Given the description of an element on the screen output the (x, y) to click on. 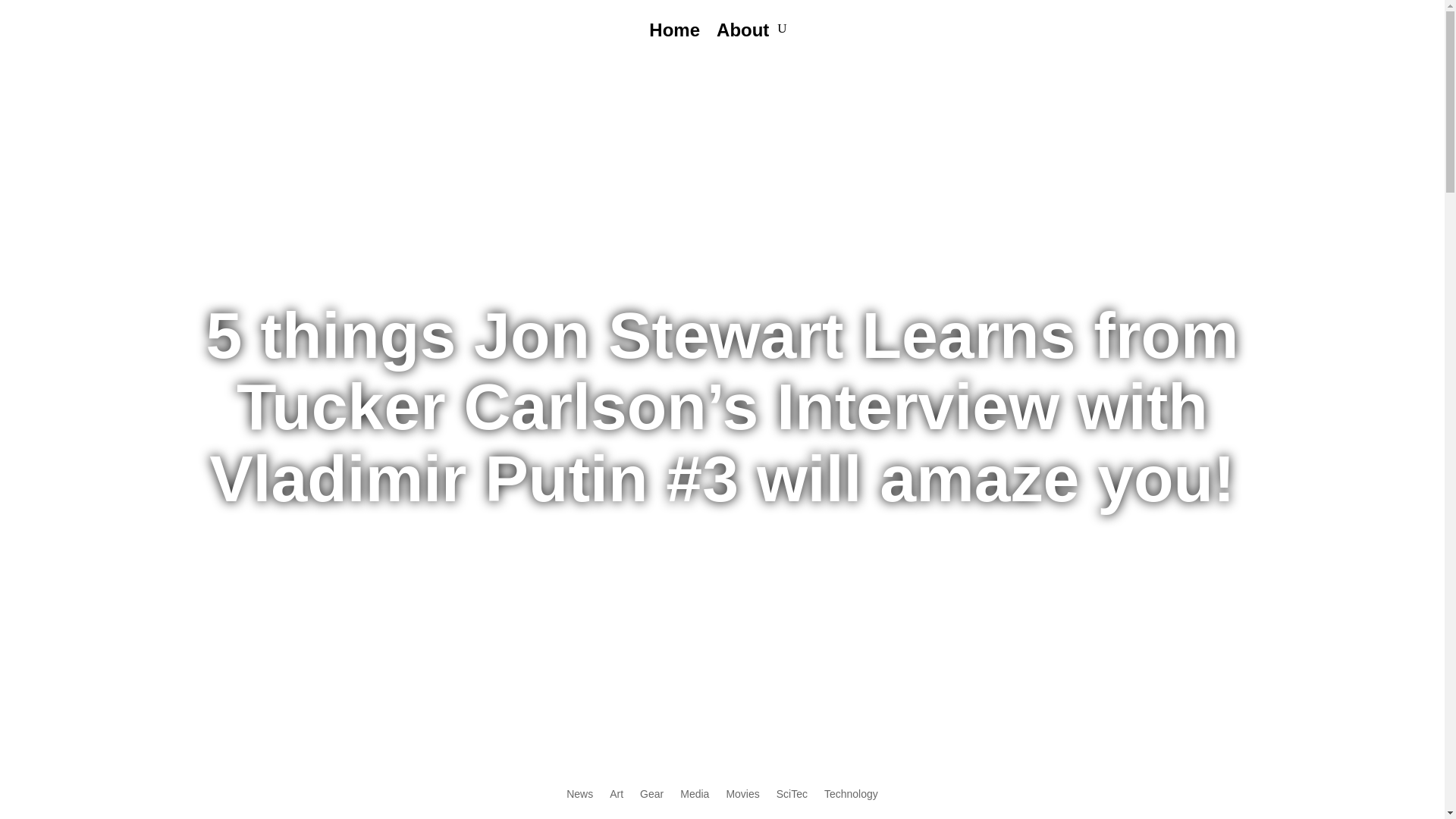
Movies (741, 803)
Media (694, 803)
Home (674, 41)
SciTec (792, 803)
Technology (850, 803)
About (742, 41)
